Given the description of an element on the screen output the (x, y) to click on. 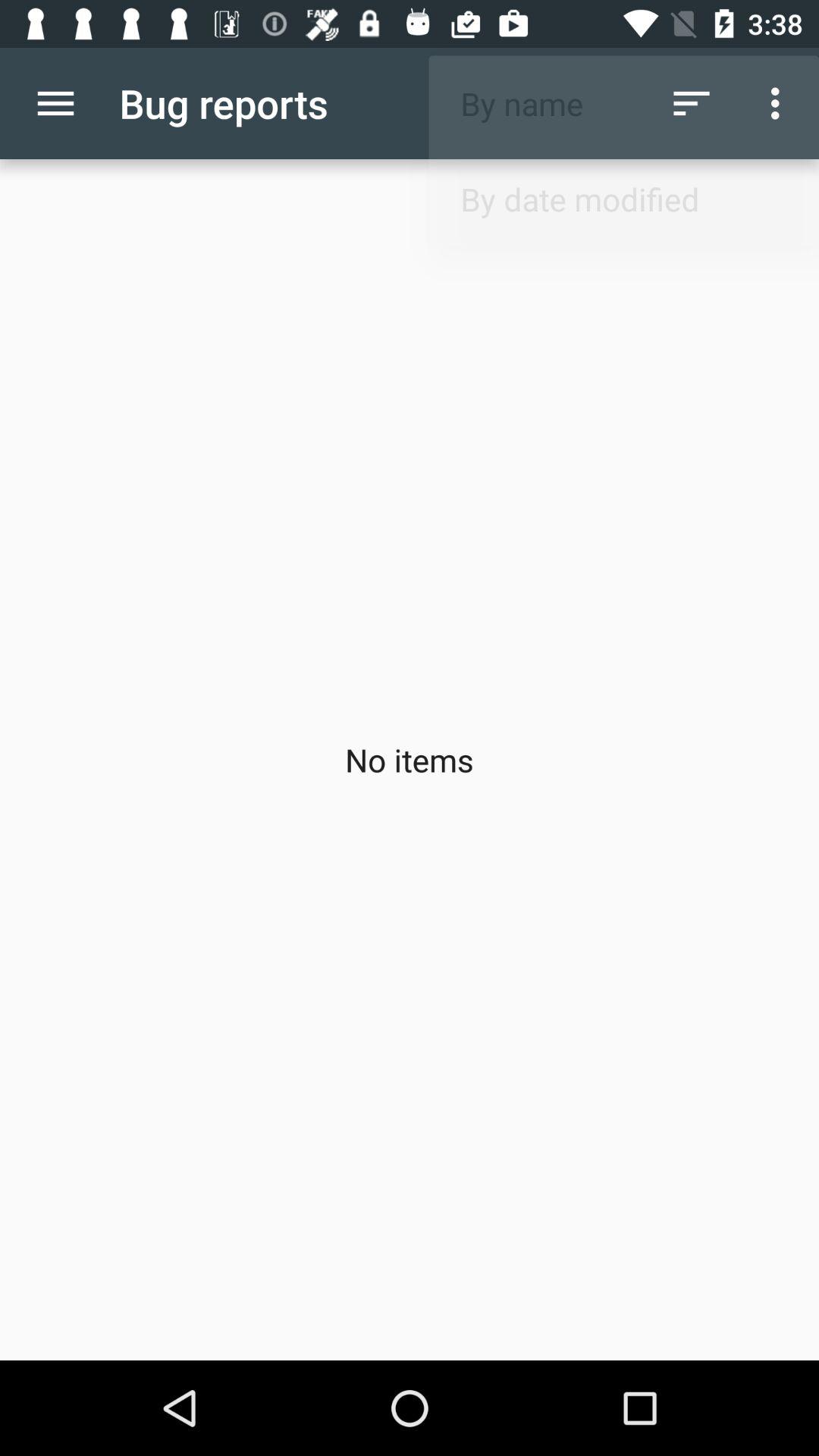
turn on the app next to the bug reports (691, 103)
